Given the description of an element on the screen output the (x, y) to click on. 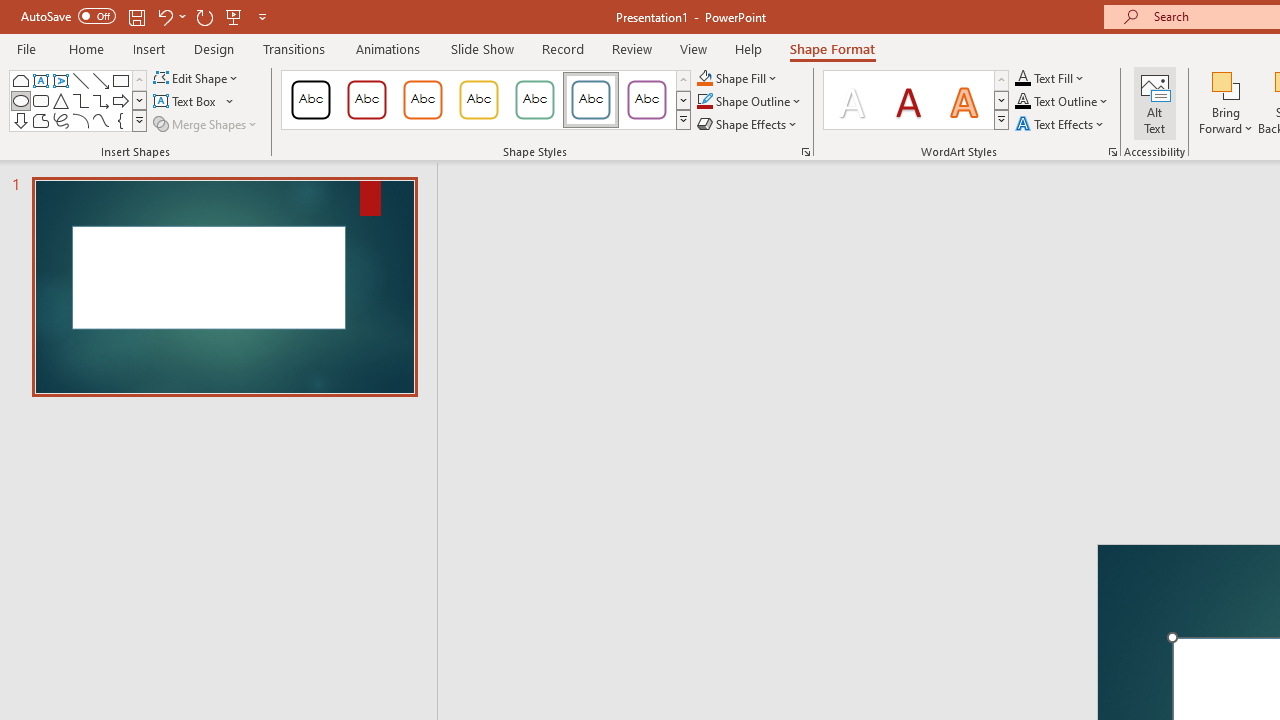
Rectangle: Top Corners Snipped (20, 80)
Shape Fill Orange, Accent 2 (704, 78)
Bring Forward (1225, 102)
Shape Format (832, 48)
Bring Forward (1225, 84)
Oval (20, 100)
Rectangle: Rounded Corners (40, 100)
Shape Effects (748, 124)
Line Arrow (100, 80)
Vertical Text Box (60, 80)
